Given the description of an element on the screen output the (x, y) to click on. 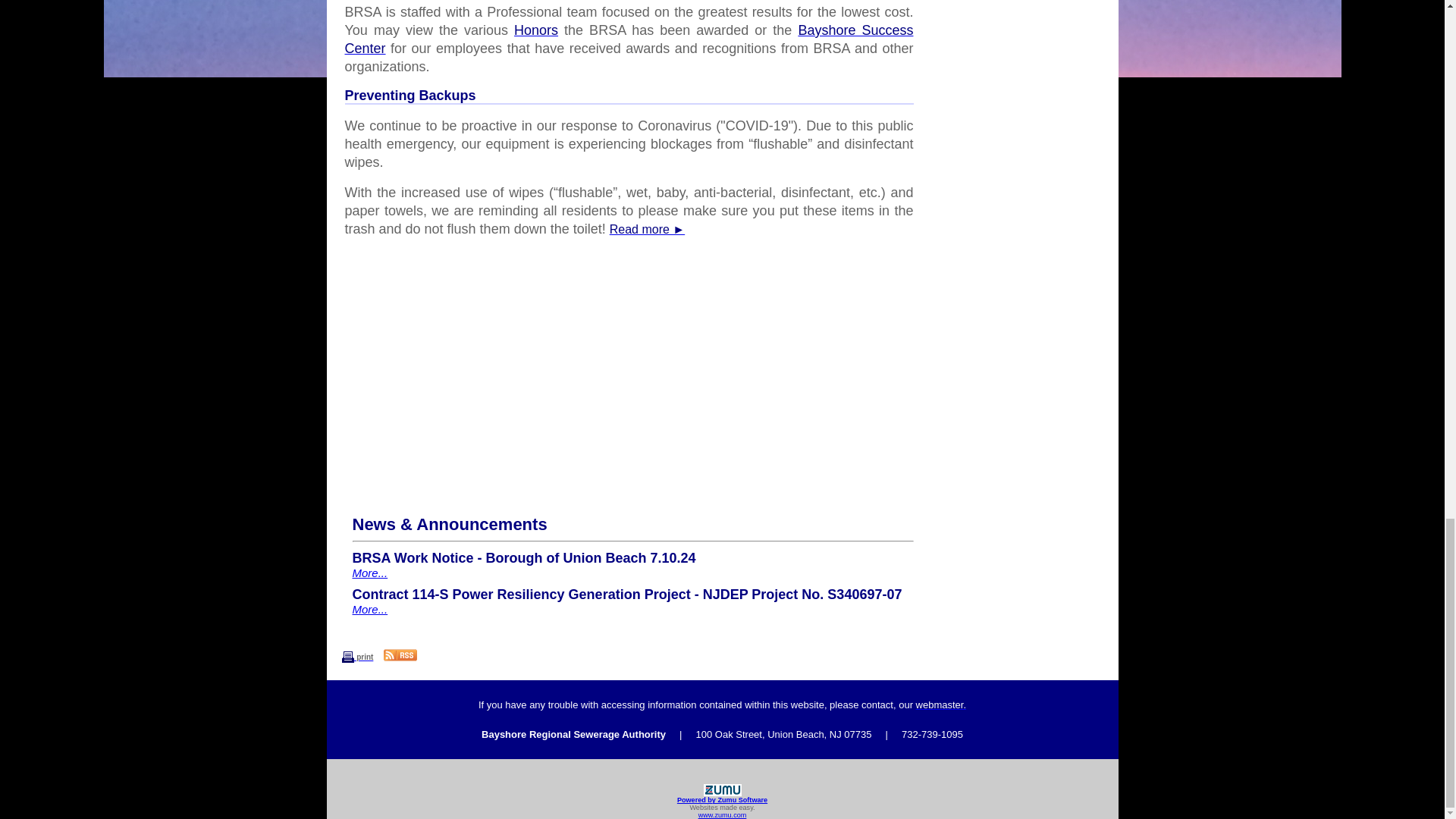
Bayshore Success Center (627, 39)
More... (369, 608)
Honors (535, 29)
 print (356, 655)
Powered by Zumu Software (722, 799)
More... (369, 572)
webmaster. (940, 704)
